Given the description of an element on the screen output the (x, y) to click on. 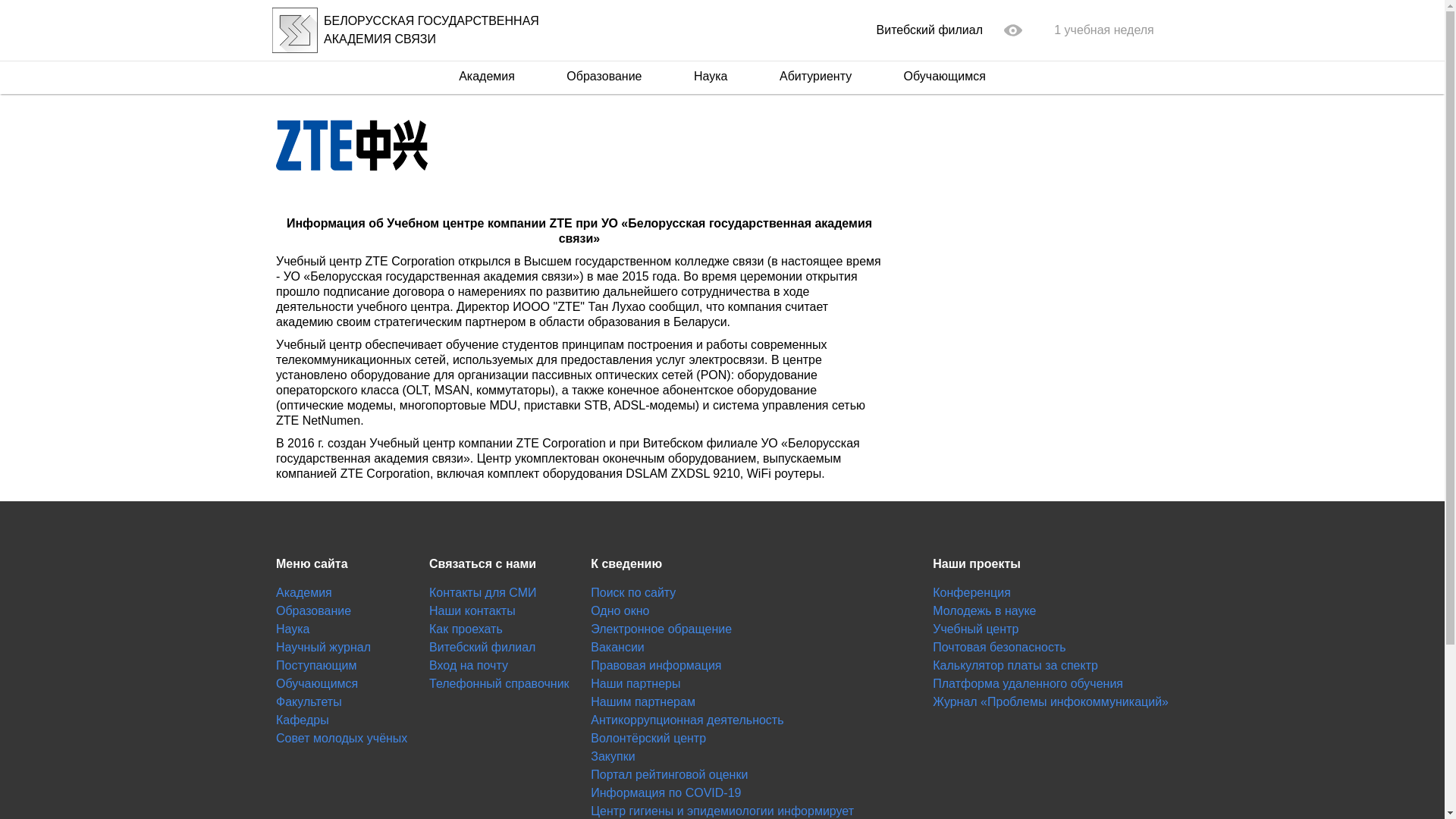
ZTE Element type: hover (351, 144)
